Given the description of an element on the screen output the (x, y) to click on. 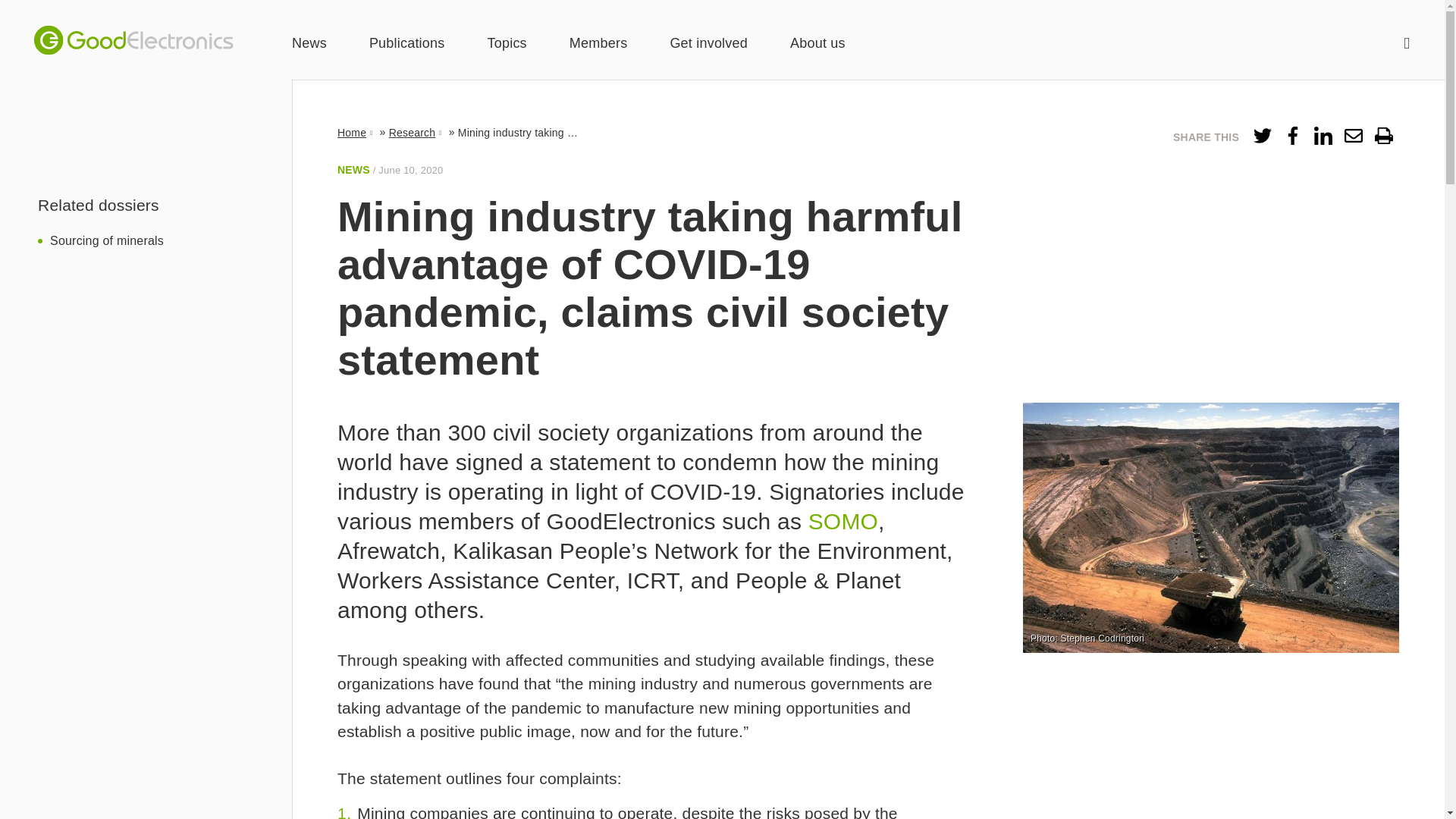
linkedin Created with Sketch. (1323, 139)
twitter Created with Sketch. (1262, 135)
GoodElectronics (132, 40)
Home (356, 132)
About us (817, 43)
facebook Created with Sketch. (1292, 139)
facebook Created with Sketch. (1292, 135)
email Created with Sketch. (1352, 139)
View all posts in Sourcing of minerals (106, 239)
print Created with Sketch. (1383, 139)
